Given the description of an element on the screen output the (x, y) to click on. 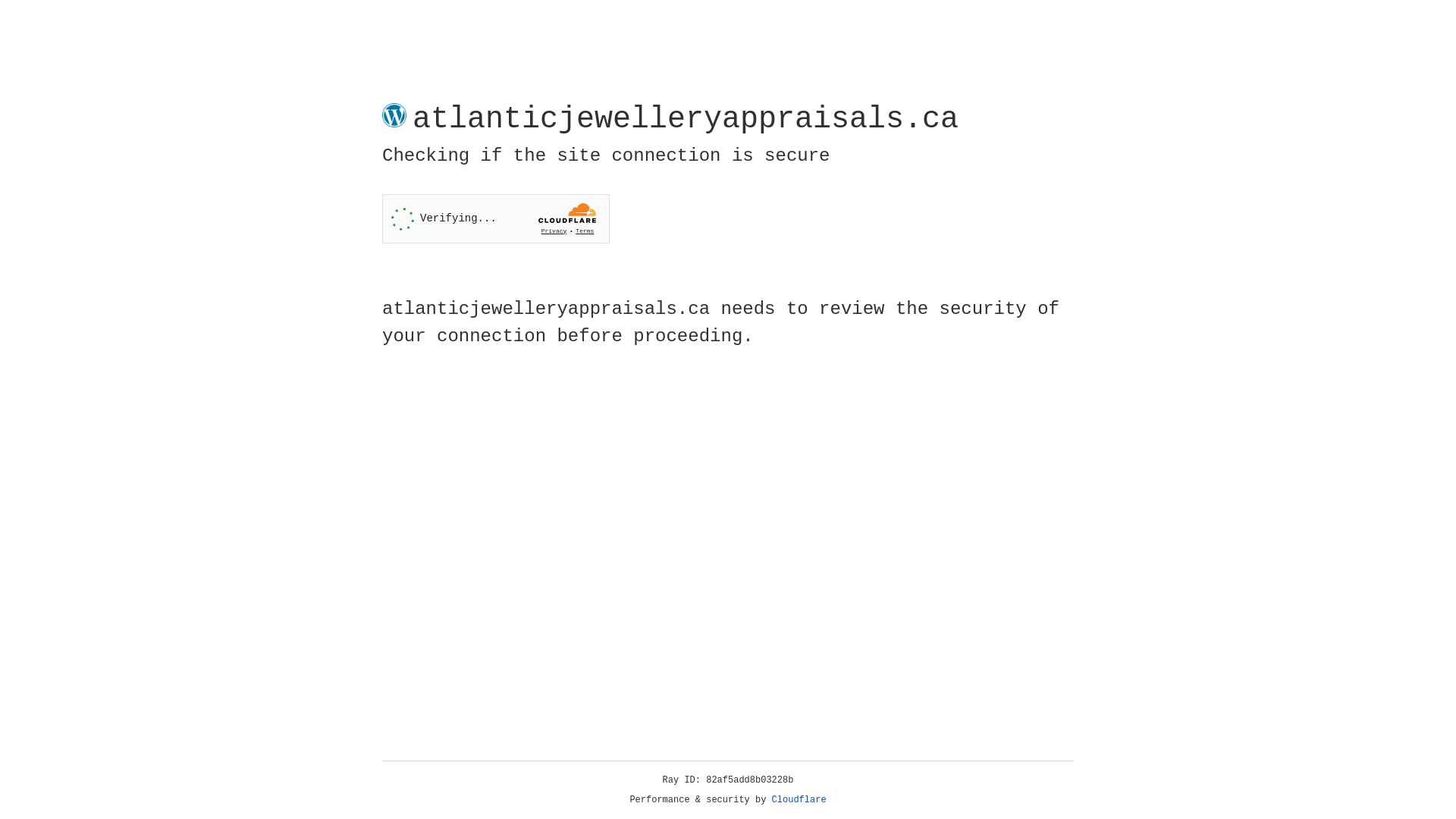
Widget containing a Cloudflare security challenge Element type: hover (495, 218)
Cloudflare Element type: text (798, 799)
